Given the description of an element on the screen output the (x, y) to click on. 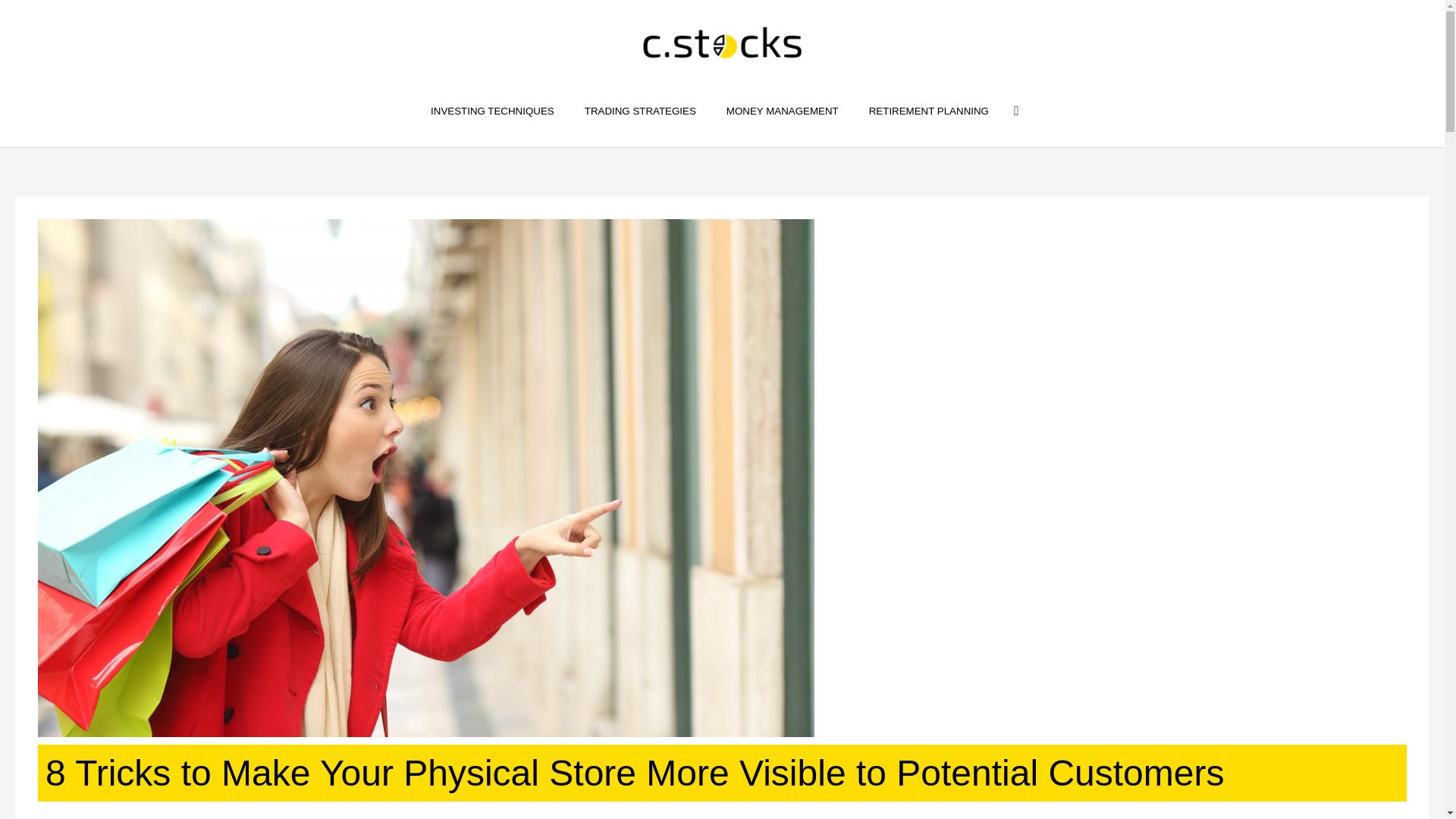
MONEY MANAGEMENT (782, 110)
RETIREMENT PLANNING (928, 110)
INVESTING TECHNIQUES (491, 110)
SEARCH (1015, 110)
TRADING STRATEGIES (640, 110)
